Given the description of an element on the screen output the (x, y) to click on. 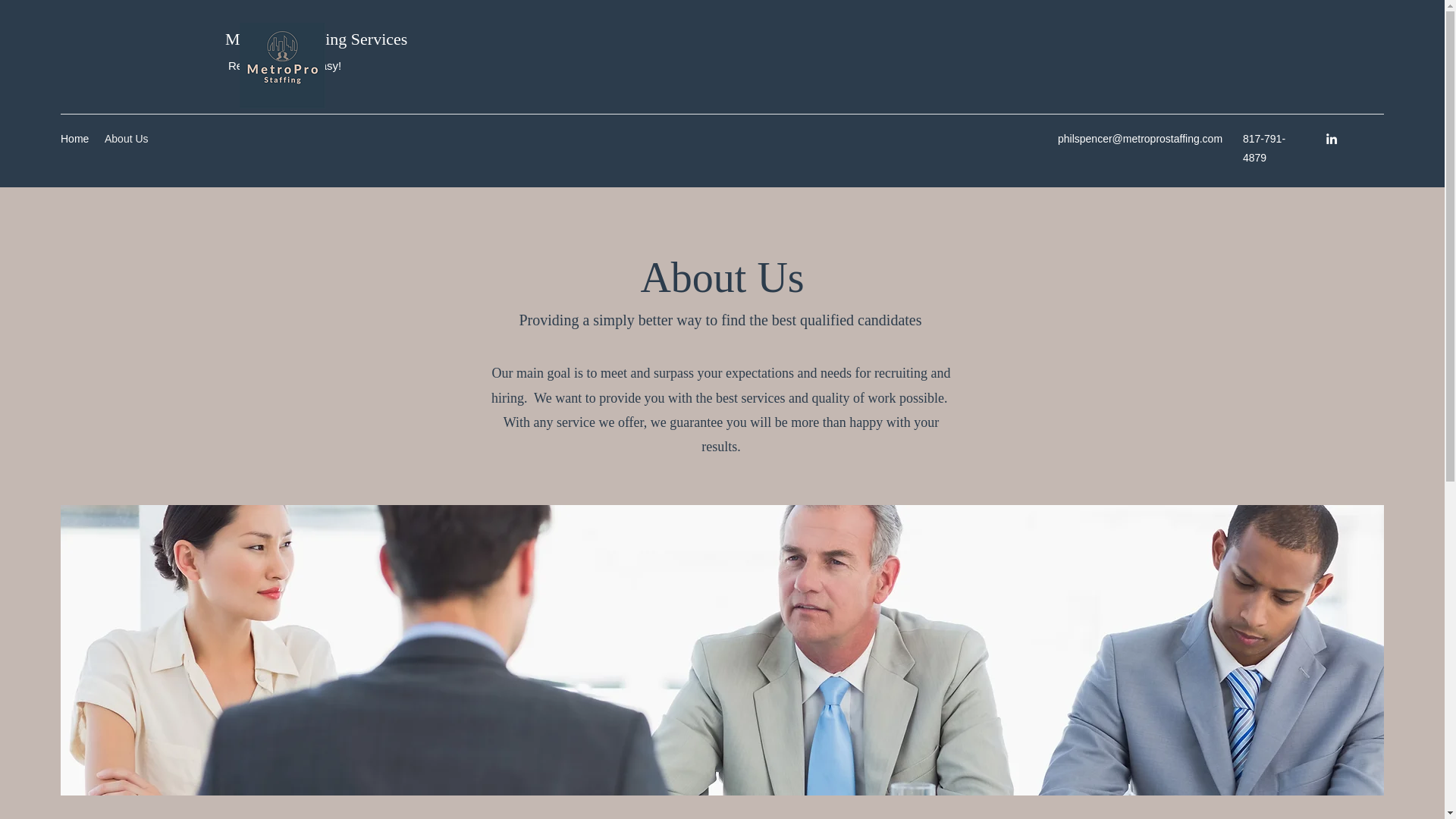
About Us (127, 138)
MetroPro Staffing Services (316, 38)
Home (74, 138)
